Given the description of an element on the screen output the (x, y) to click on. 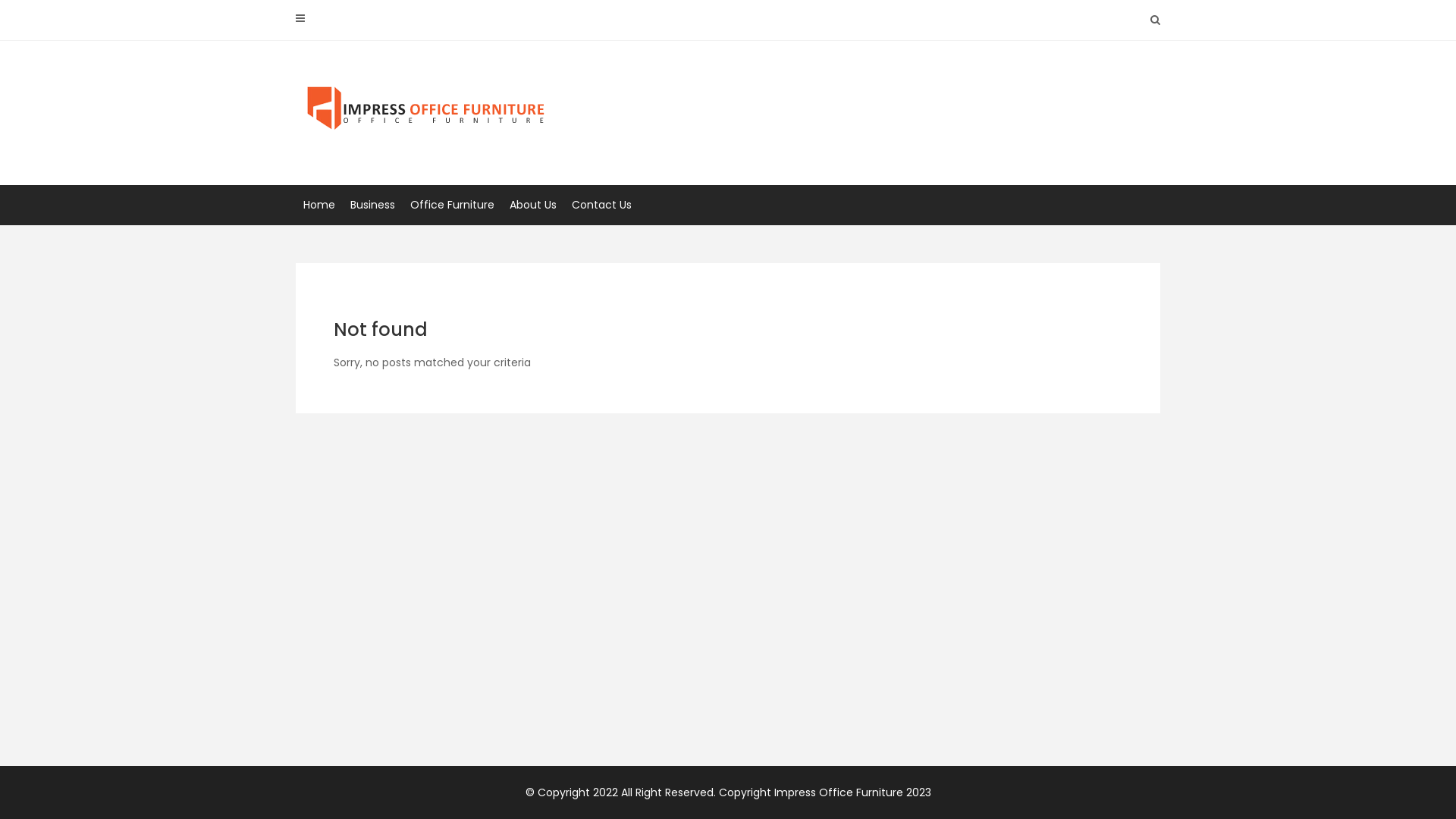
Contact Us Element type: text (601, 205)
Business Element type: text (372, 205)
Home Element type: text (318, 205)
About Us Element type: text (533, 205)
Office Furniture Element type: text (452, 205)
